Given the description of an element on the screen output the (x, y) to click on. 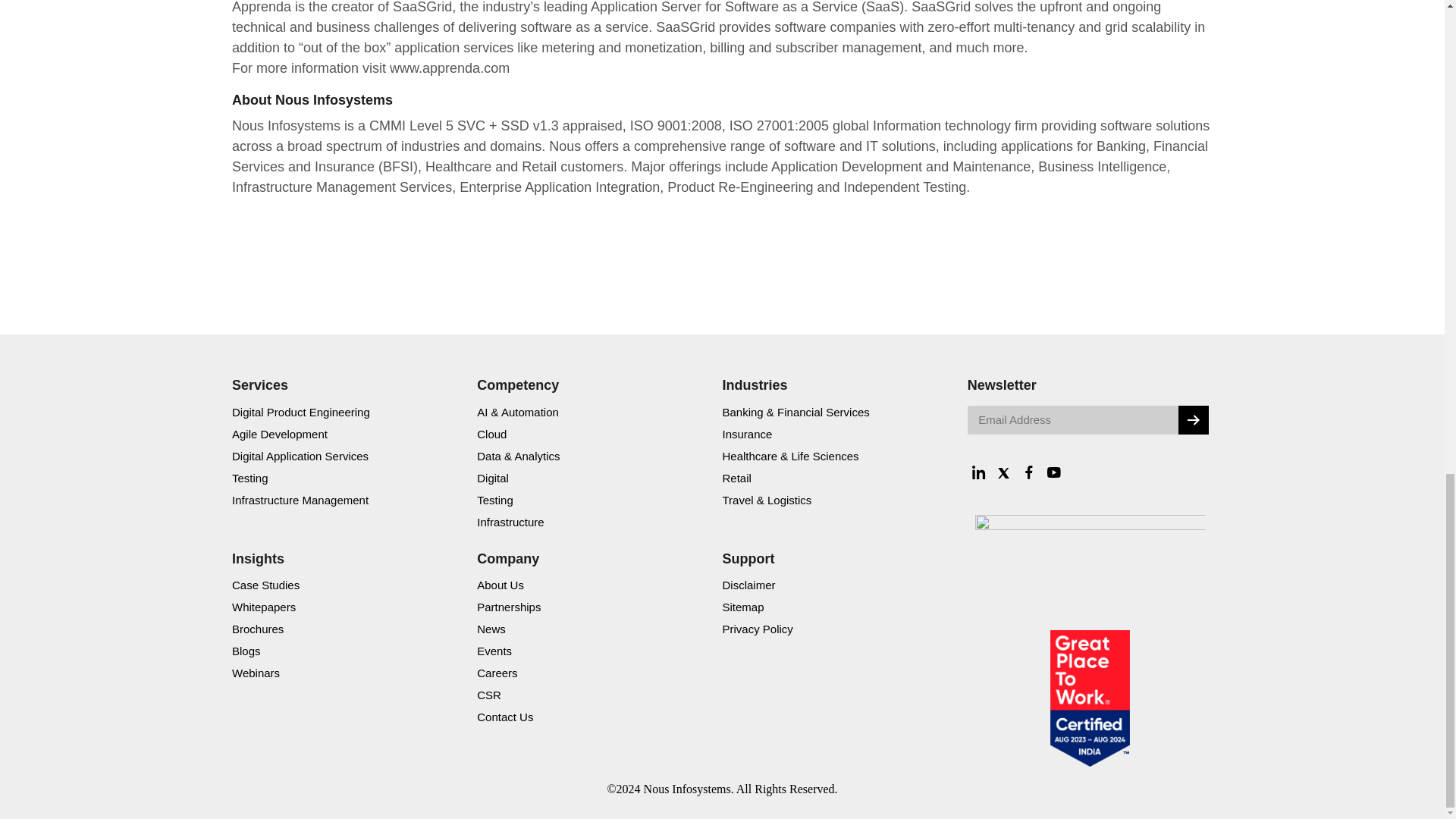
. (1192, 419)
